Given the description of an element on the screen output the (x, y) to click on. 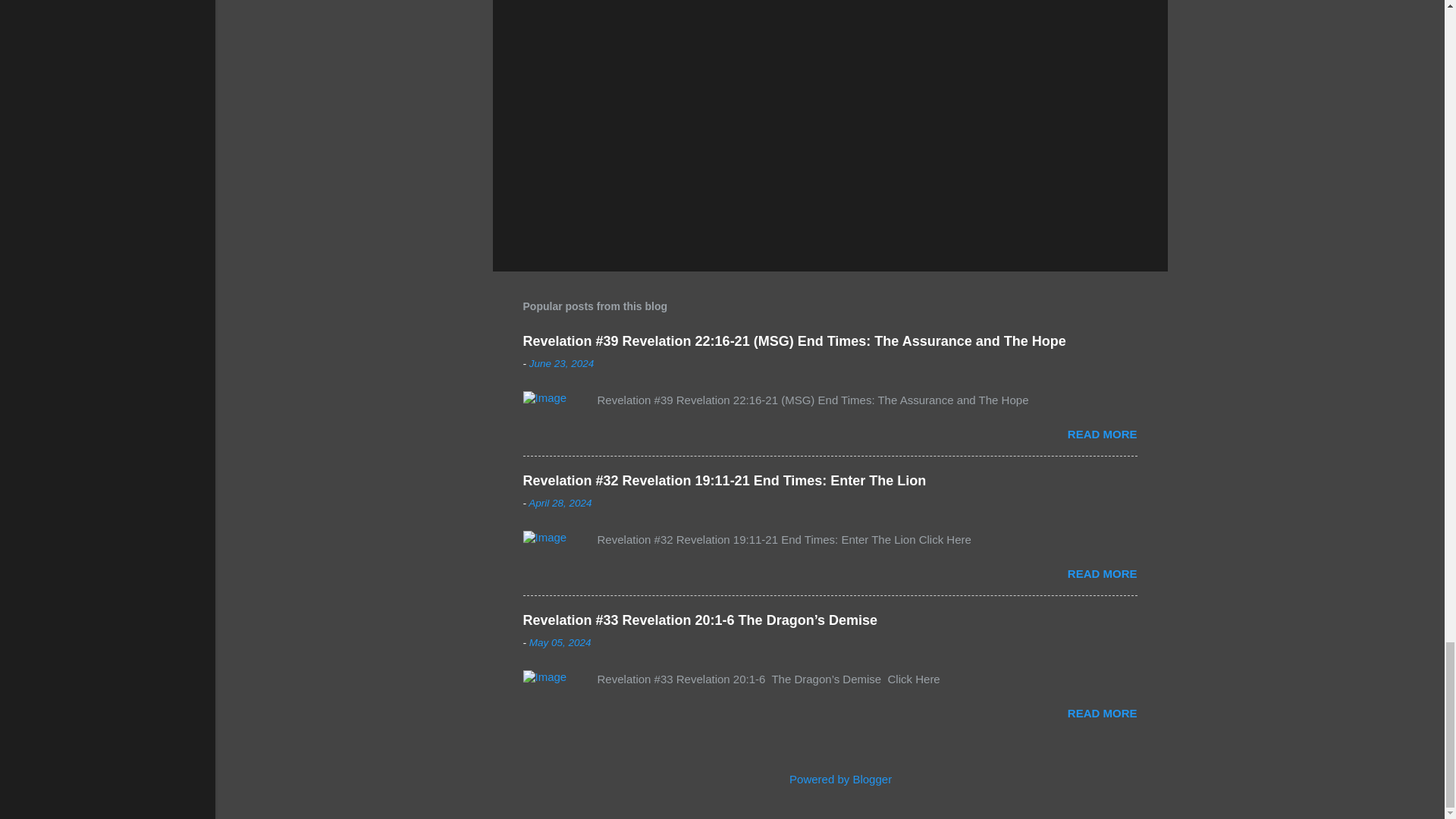
READ MORE (1102, 573)
Powered by Blogger (829, 779)
May 05, 2024 (560, 642)
April 28, 2024 (559, 502)
READ MORE (1102, 712)
June 23, 2024 (561, 363)
READ MORE (1102, 433)
permanent link (561, 363)
